Given the description of an element on the screen output the (x, y) to click on. 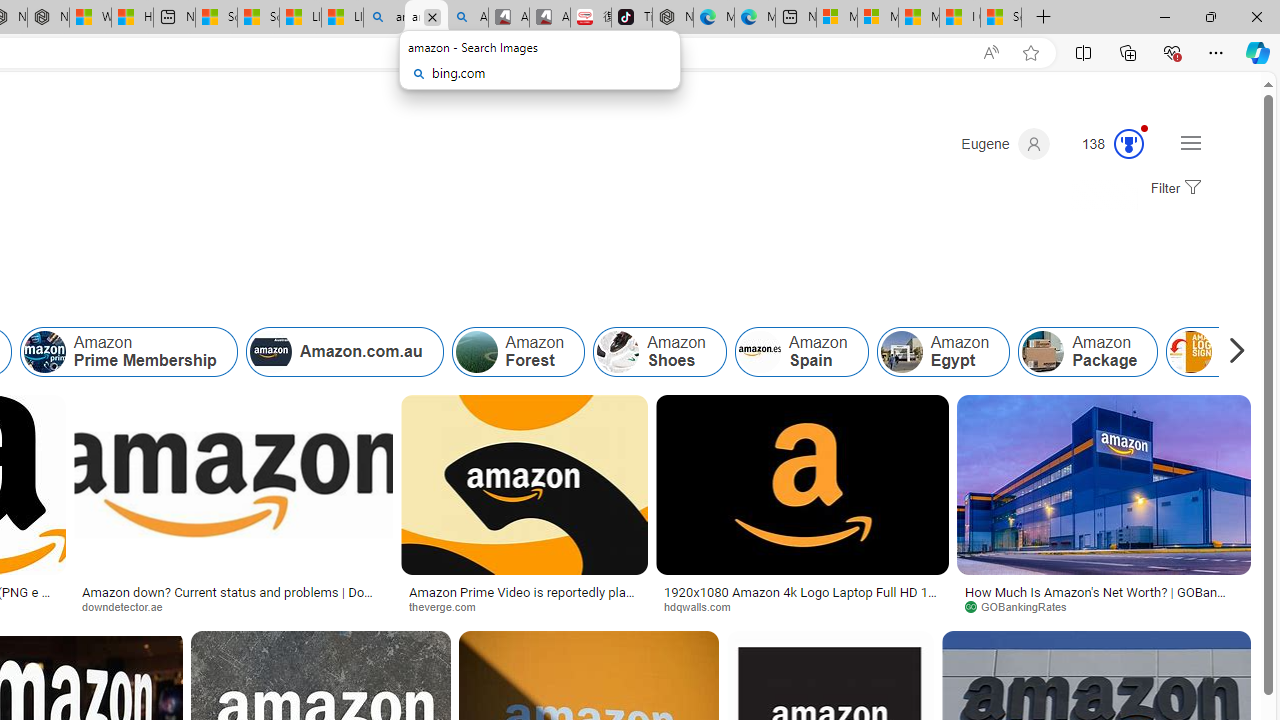
downdetector.ae (233, 606)
Amazon Shoes (659, 351)
Class: item col (1087, 351)
Amazon Forest (517, 351)
Amazon Login (1191, 351)
Amazon.com.au (343, 351)
